Given the description of an element on the screen output the (x, y) to click on. 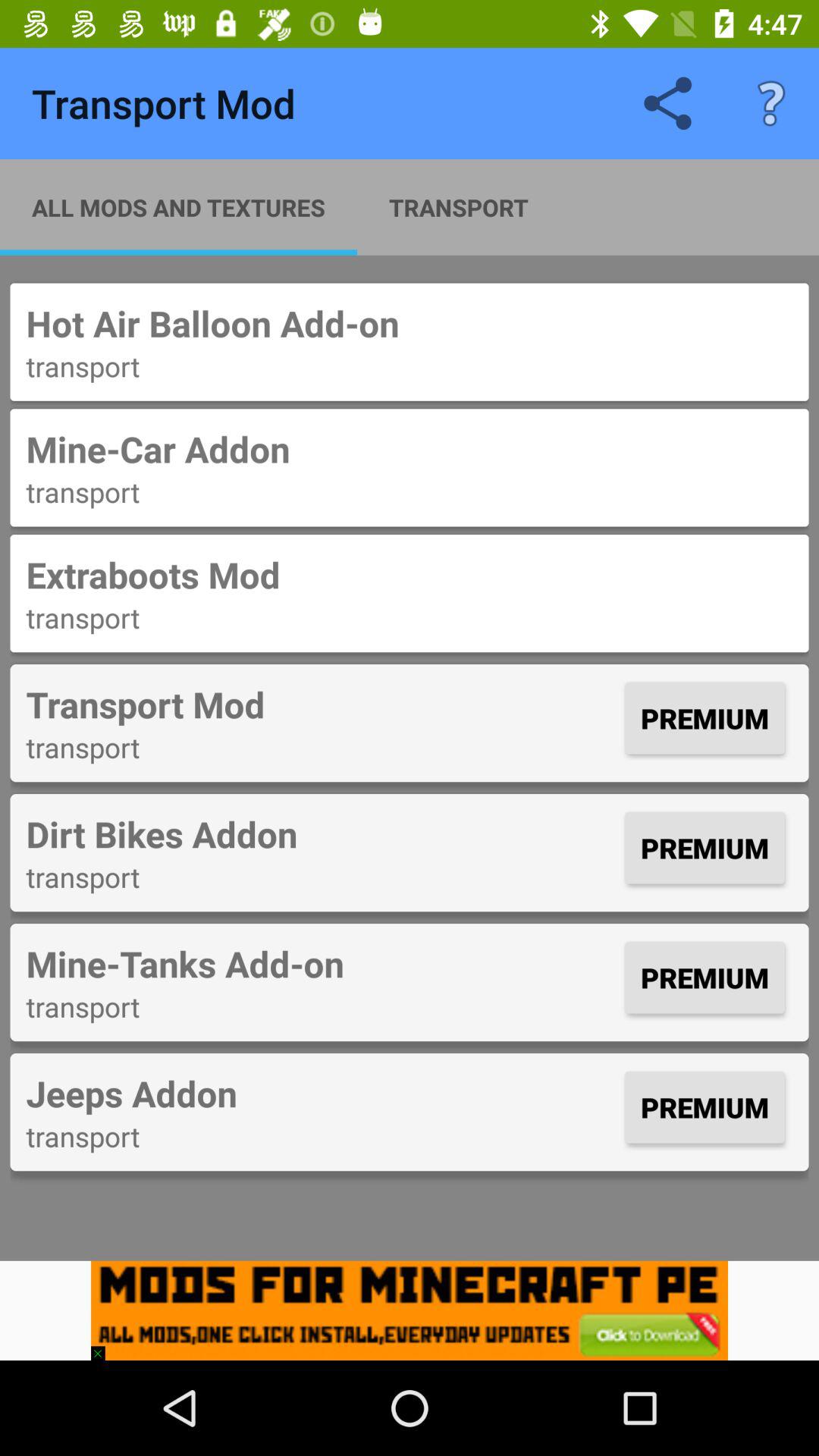
launch the icon below transport item (321, 1093)
